Given the description of an element on the screen output the (x, y) to click on. 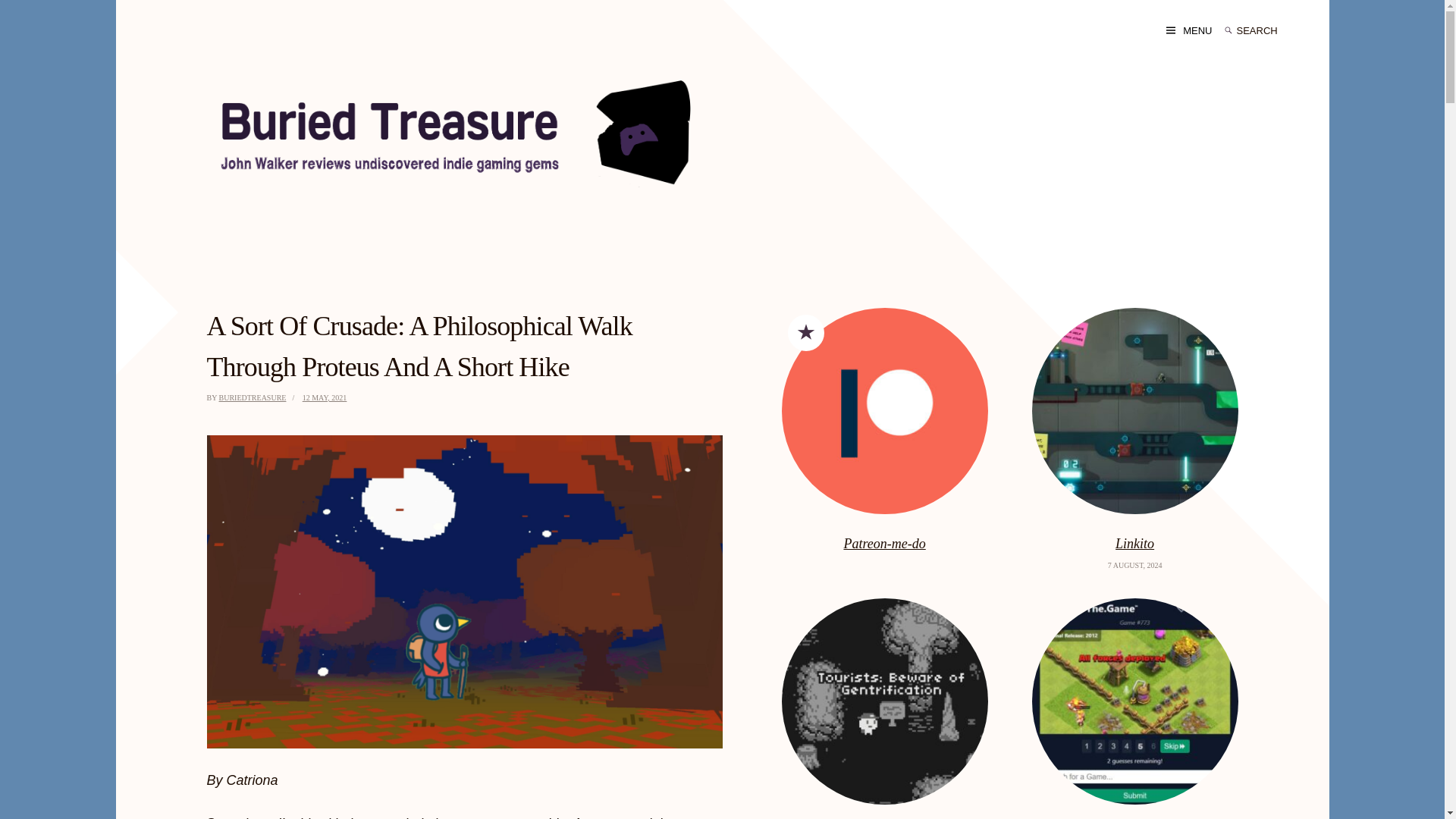
Patreon-me-do (884, 543)
12 MAY, 2021 (324, 397)
Search for: (1267, 29)
BURIEDTREASURE (252, 397)
MENU (1188, 30)
